Given the description of an element on the screen output the (x, y) to click on. 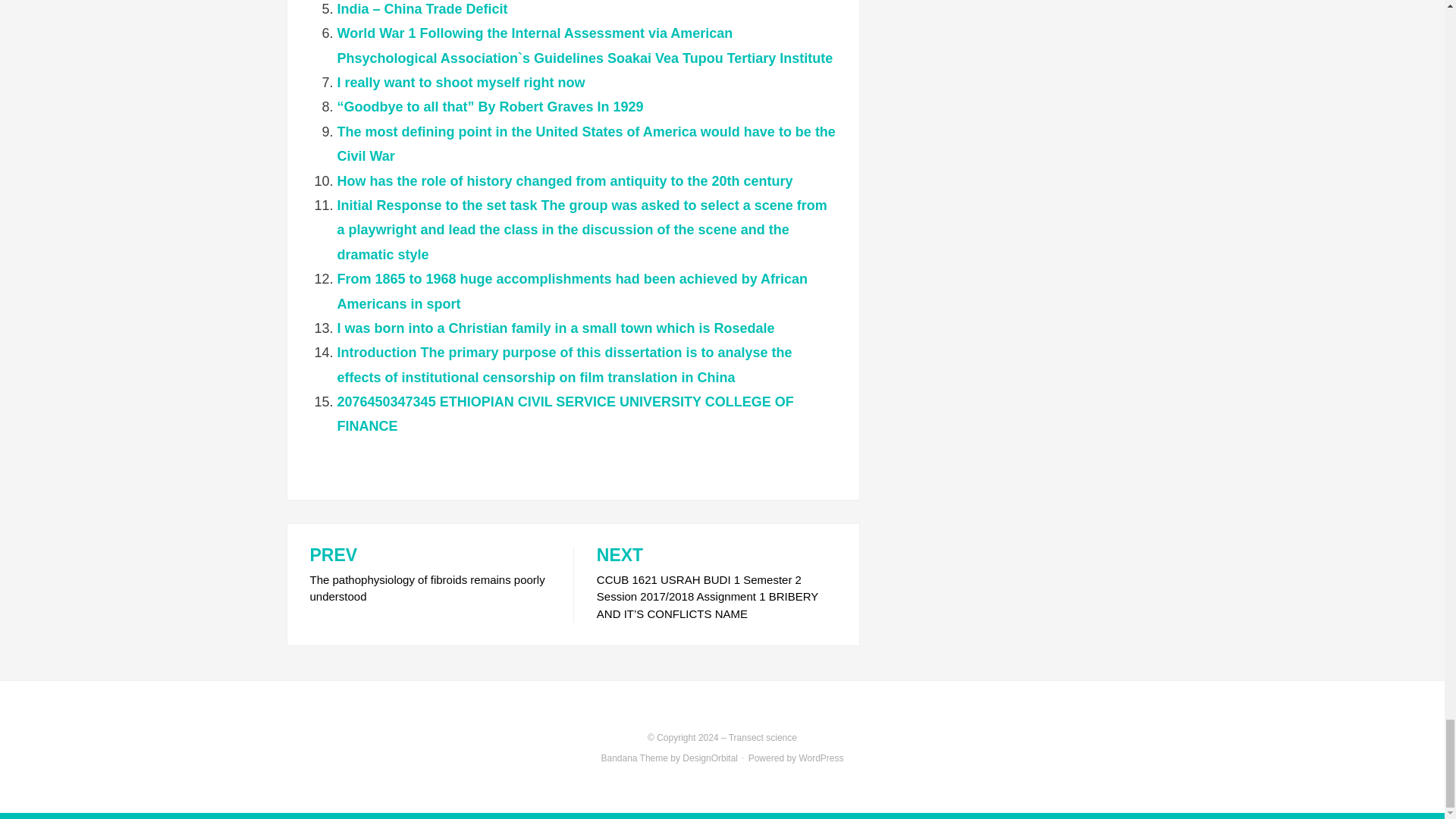
I really want to shoot myself right now (460, 82)
I really want to shoot myself right now (460, 82)
